Given the description of an element on the screen output the (x, y) to click on. 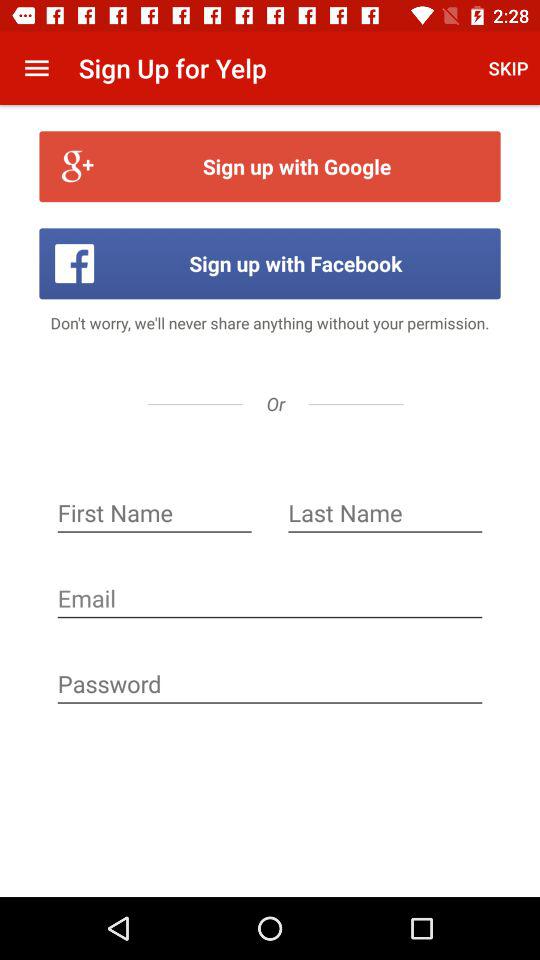
choose the icon at the top right corner (508, 68)
